Given the description of an element on the screen output the (x, y) to click on. 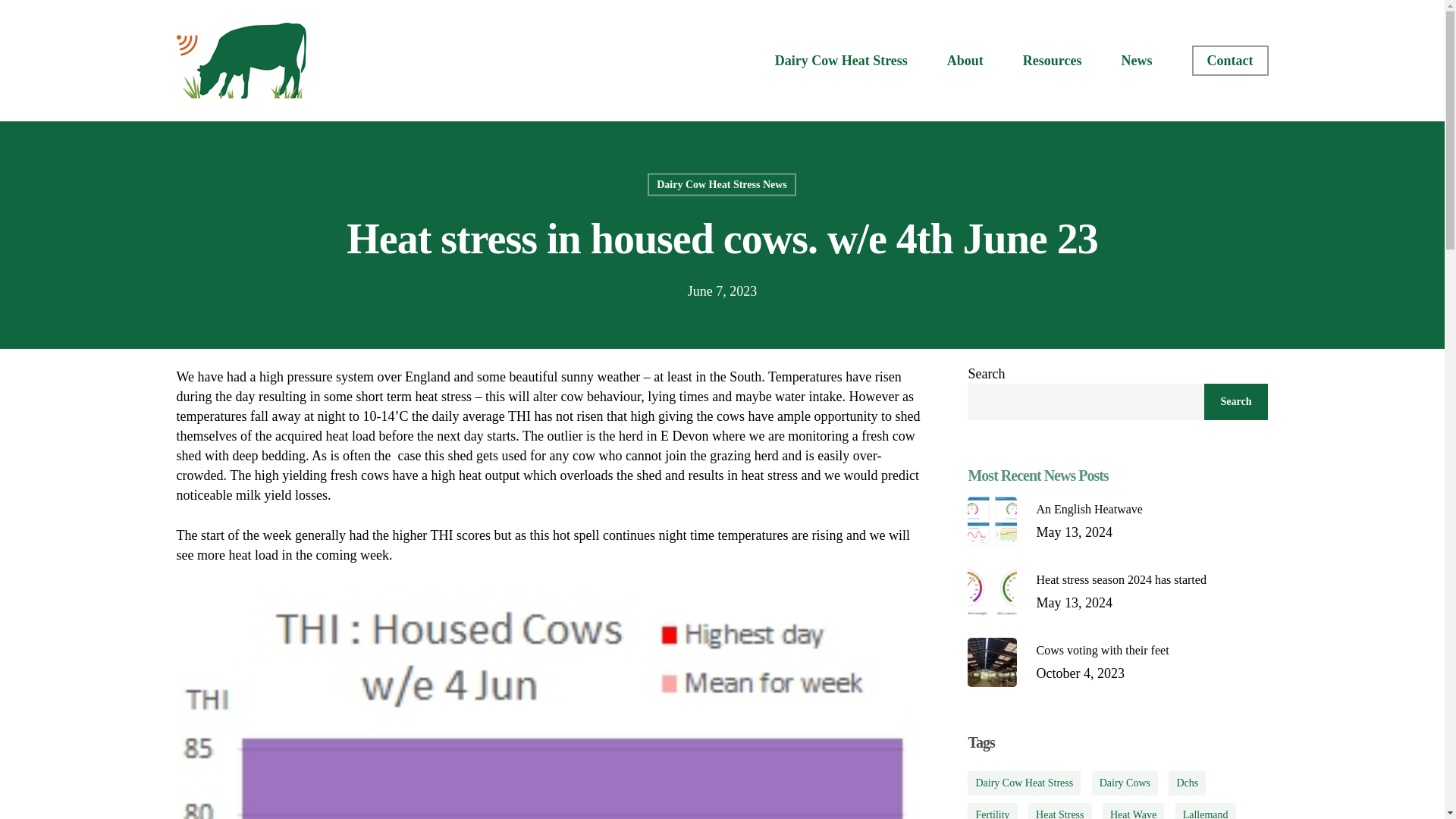
Contact (1230, 60)
Dairy Cows (1124, 783)
Fertility (992, 811)
Resources (1052, 60)
News (1118, 591)
About (1136, 60)
Lallemand (965, 60)
Heat Wave (1205, 811)
